Given the description of an element on the screen output the (x, y) to click on. 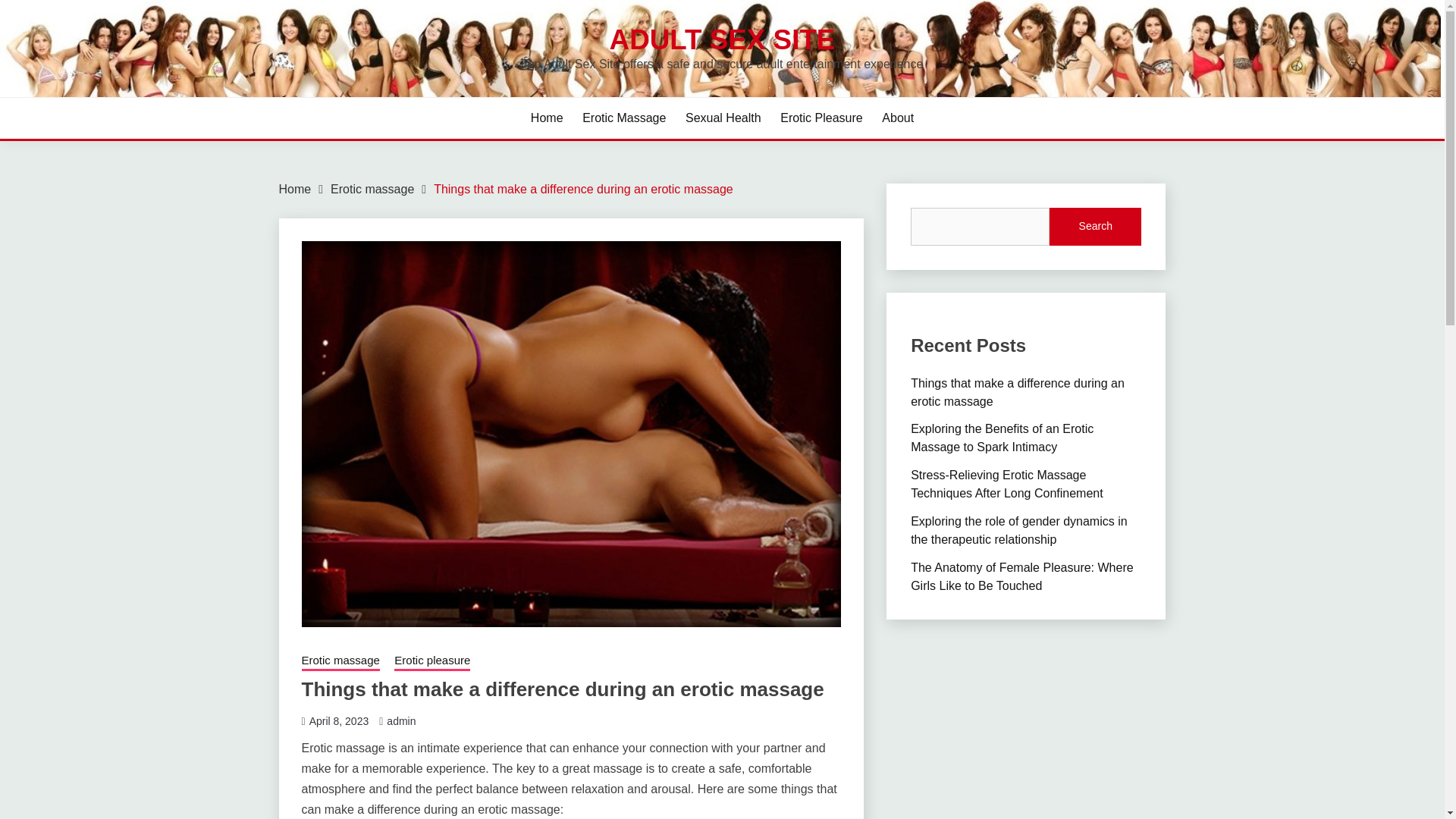
Sexual Health (723, 117)
Erotic Pleasure (821, 117)
Things that make a difference during an erotic massage (1017, 391)
Erotic Massage (623, 117)
About (898, 117)
Search (1095, 226)
April 8, 2023 (338, 720)
Erotic pleasure (432, 661)
Home (547, 117)
Erotic massage (340, 661)
Things that make a difference during an erotic massage (583, 188)
admin (400, 720)
